Given the description of an element on the screen output the (x, y) to click on. 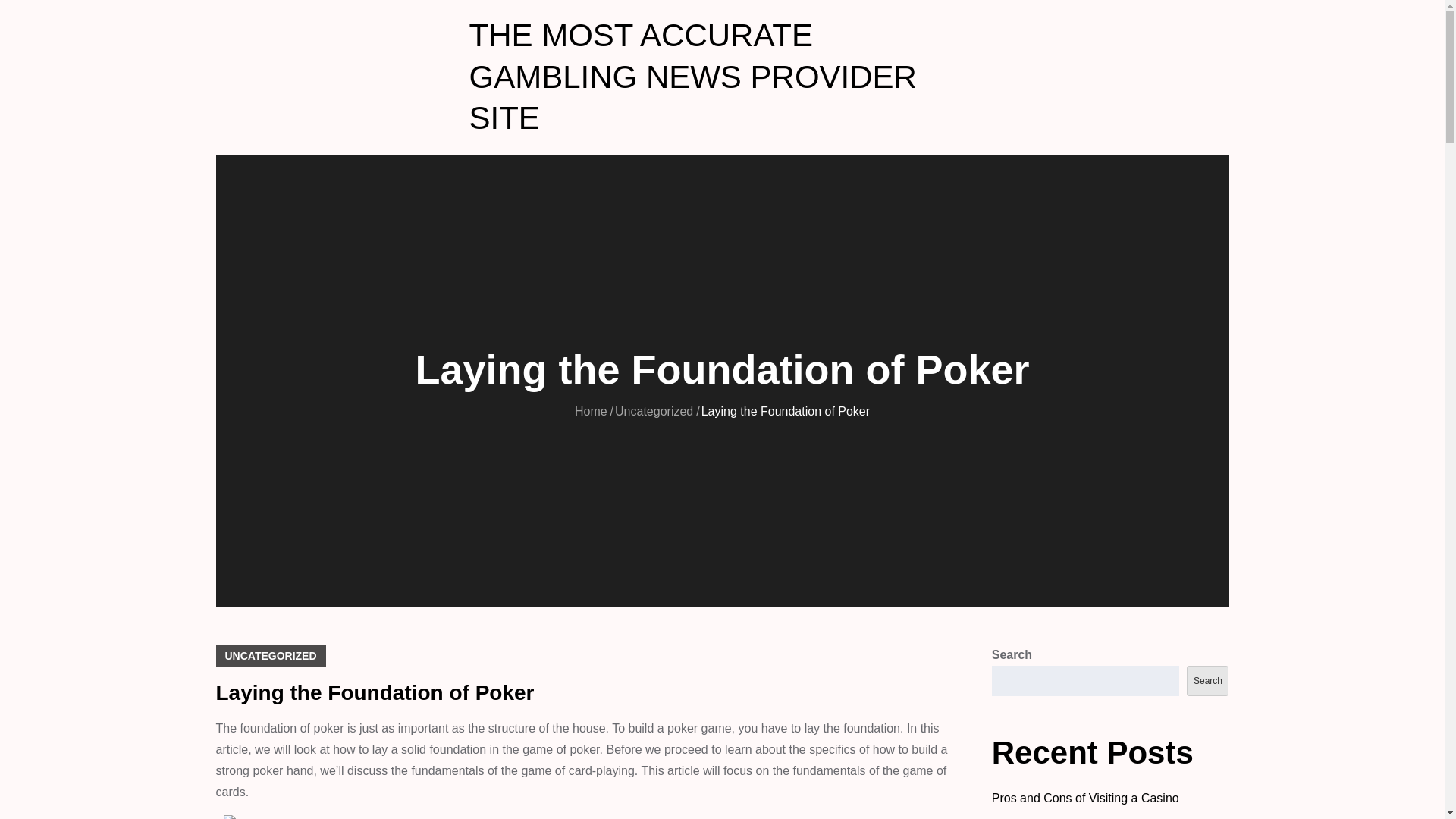
Uncategorized (653, 410)
Home (591, 410)
Pros and Cons of Visiting a Casino (1085, 797)
UNCATEGORIZED (269, 655)
Search (1207, 680)
THE MOST ACCURATE GAMBLING NEWS PROVIDER SITE (691, 76)
